Given the description of an element on the screen output the (x, y) to click on. 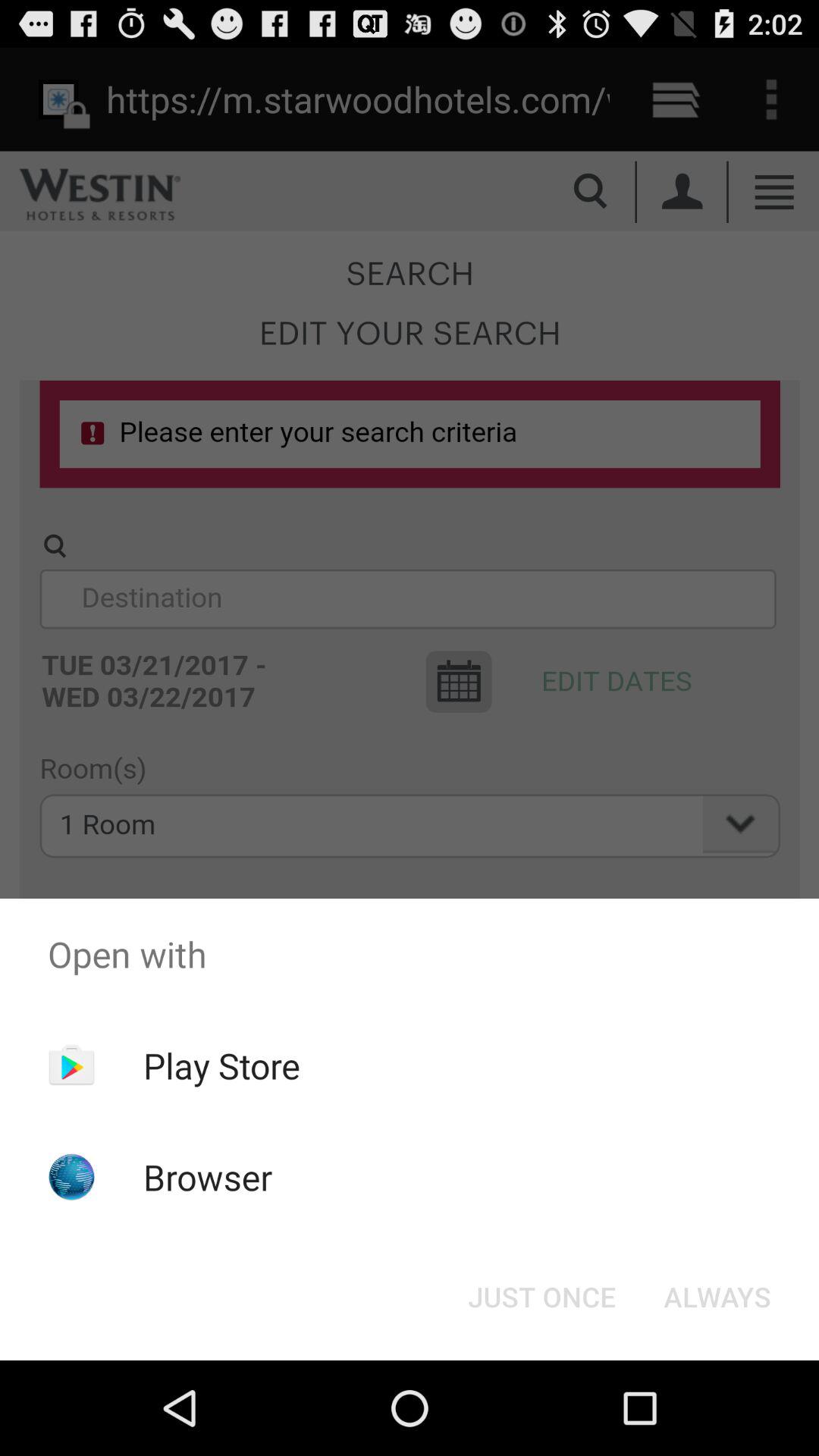
jump until play store item (221, 1065)
